Given the description of an element on the screen output the (x, y) to click on. 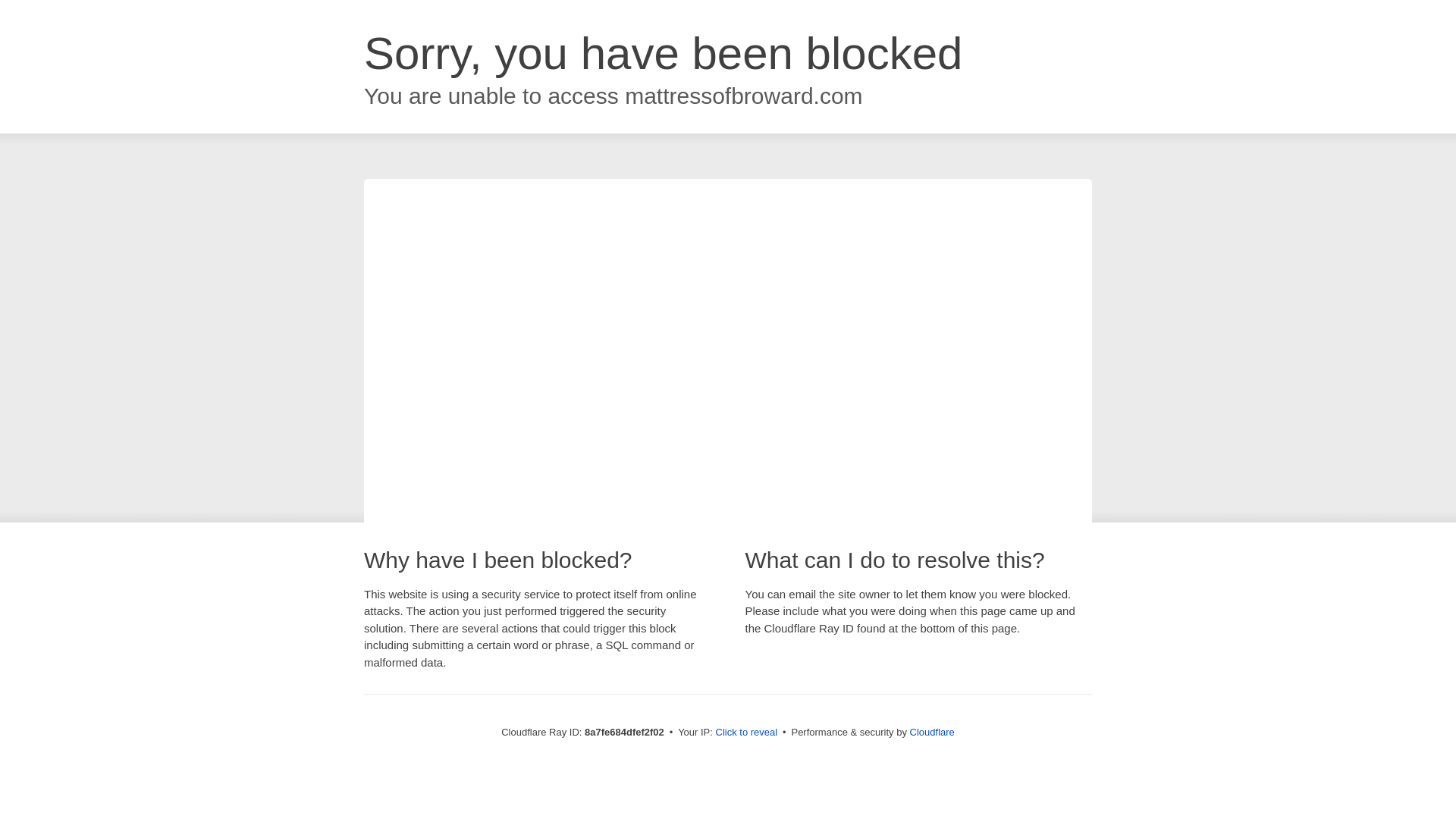
Cloudflare (932, 731)
Click to reveal (746, 732)
